Given the description of an element on the screen output the (x, y) to click on. 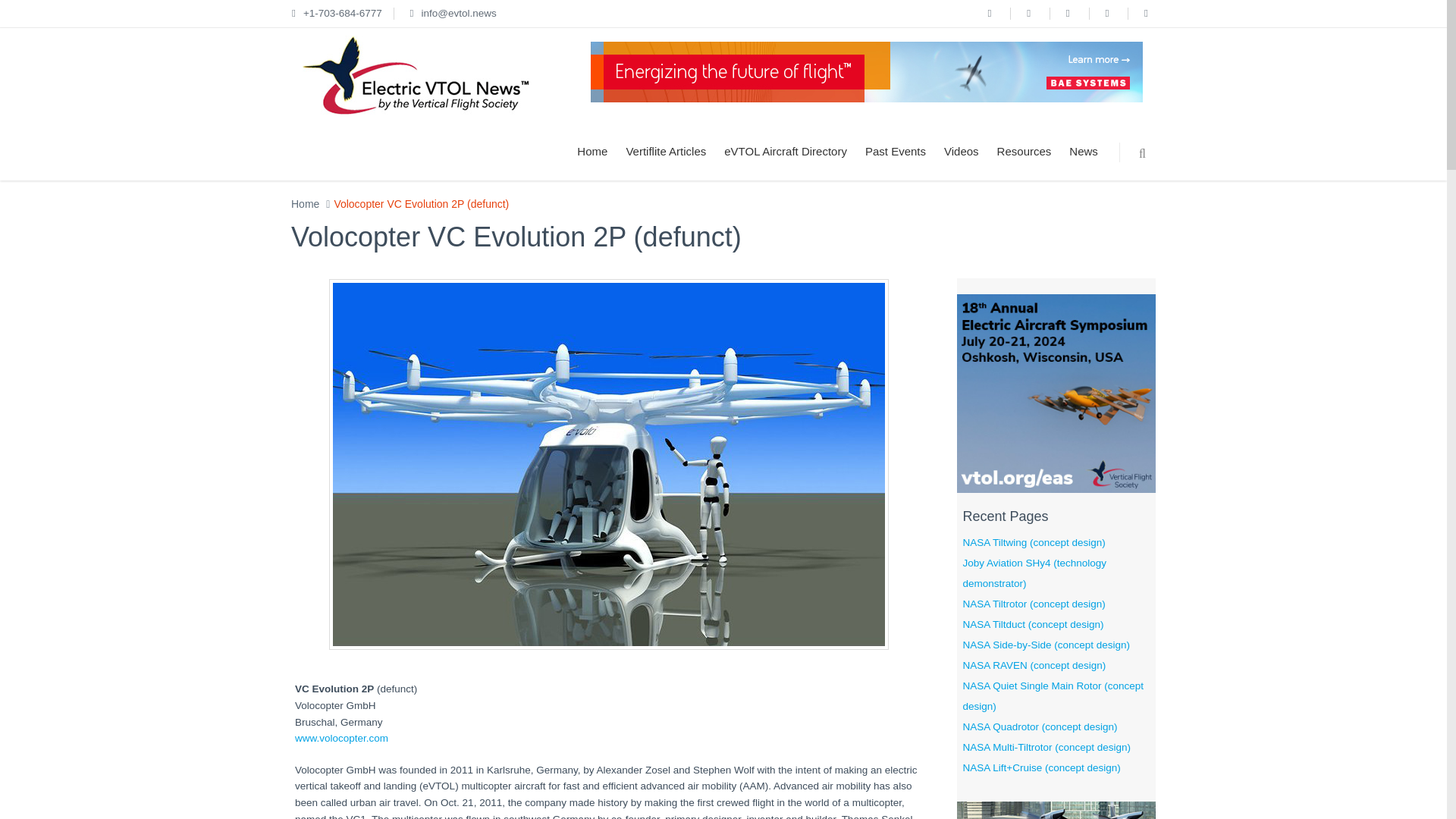
Home (304, 203)
www.volocopter.com (341, 737)
Resources (1024, 151)
Videos (961, 151)
Past Events (895, 151)
eVTOL Aircraft Directory (785, 151)
Vertiflite Articles (664, 151)
